Given the description of an element on the screen output the (x, y) to click on. 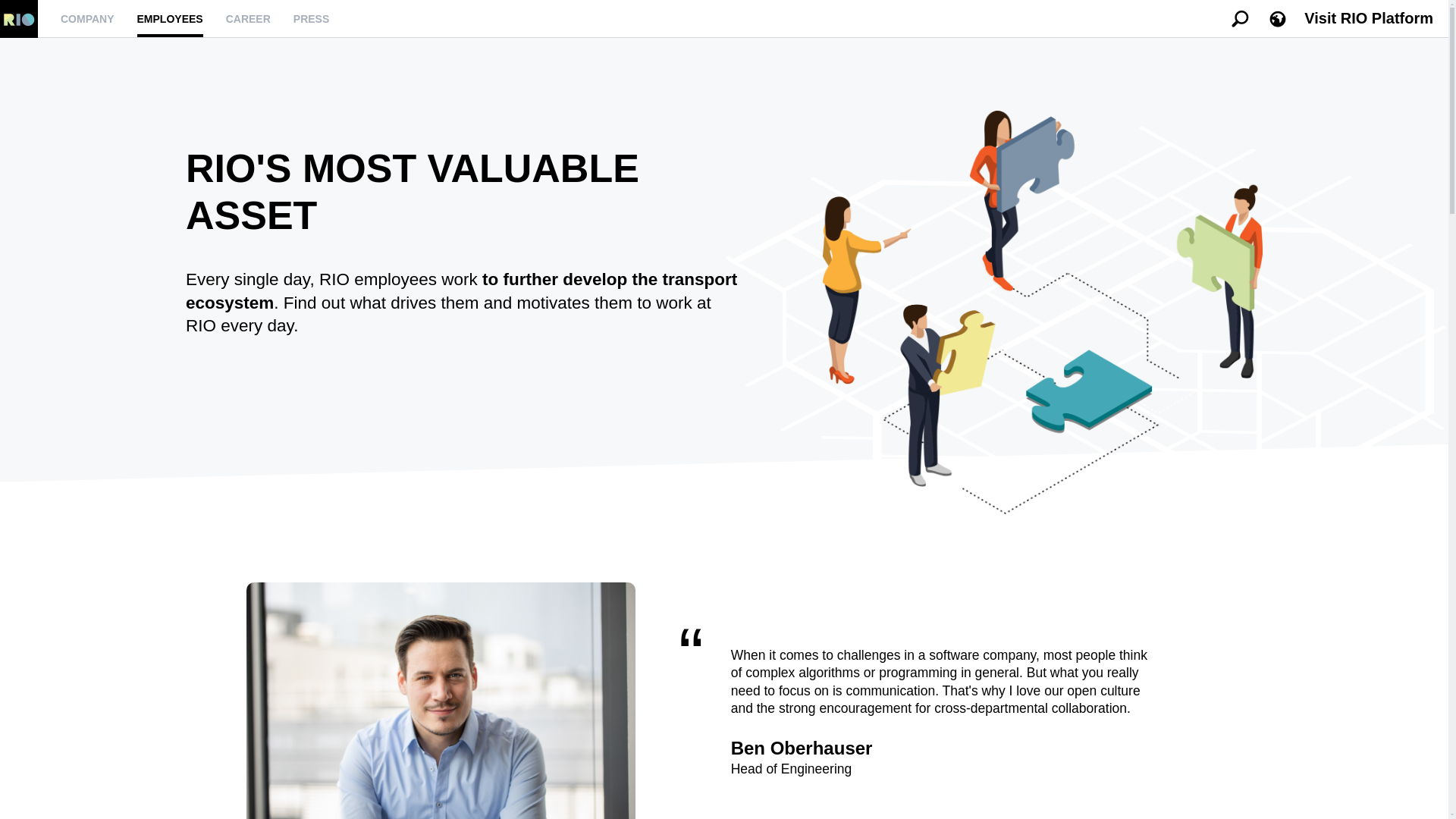
PRESS (311, 18)
CAREER (247, 18)
EMPLOYEES (169, 18)
COMPANY (88, 18)
